Given the description of an element on the screen output the (x, y) to click on. 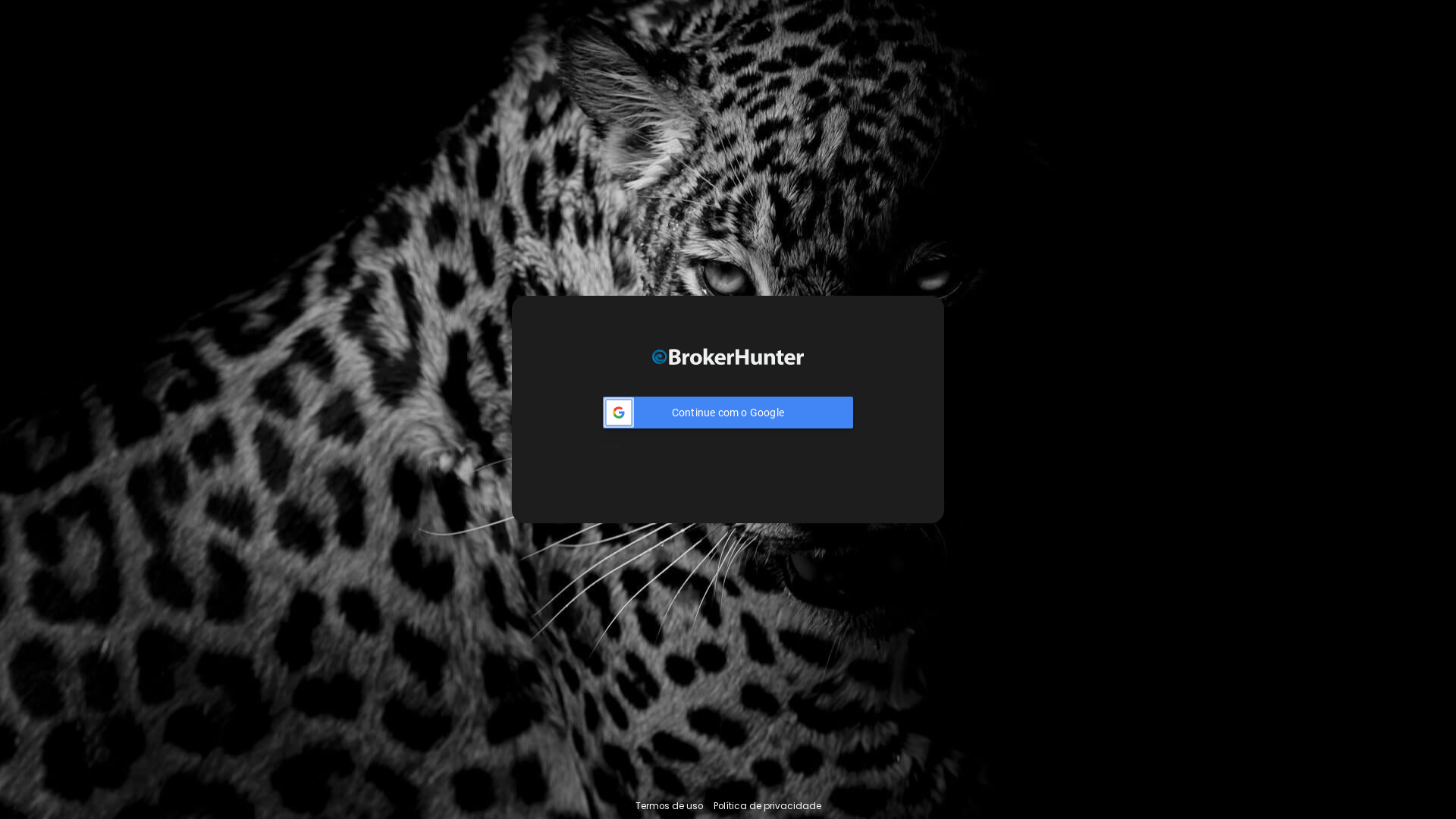
Termos de uso Element type: text (668, 806)
Continue com o Google Element type: text (727, 412)
